Given the description of an element on the screen output the (x, y) to click on. 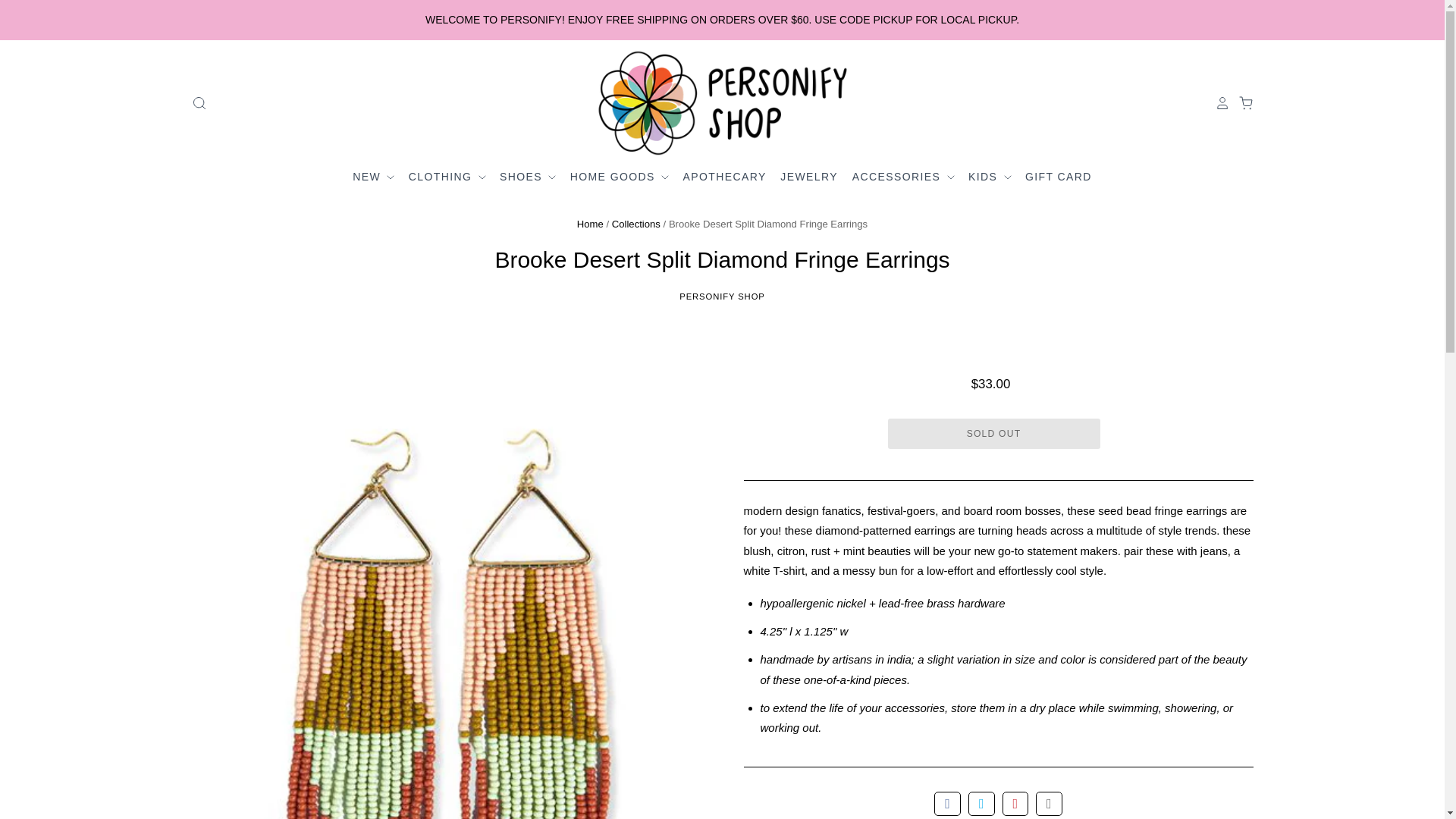
Sold out (992, 433)
NEW (374, 177)
